Given the description of an element on the screen output the (x, y) to click on. 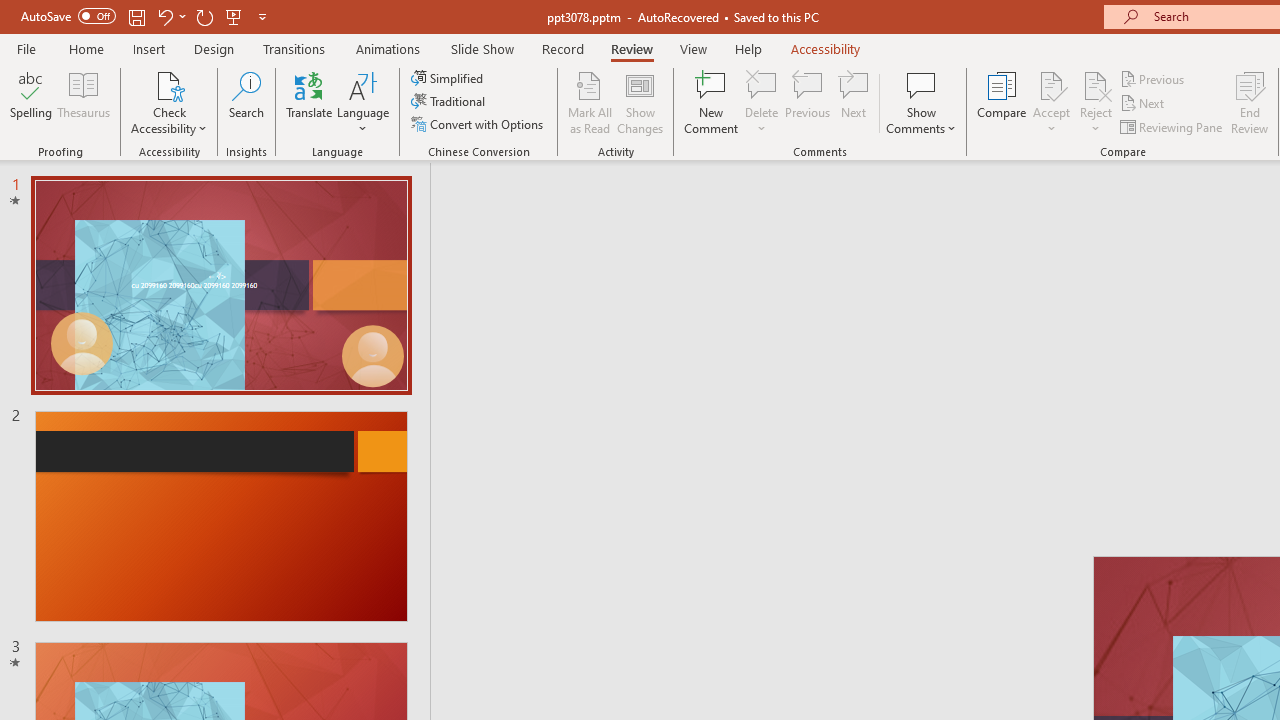
End Review (1249, 102)
Translate (309, 102)
Traditional (449, 101)
Reviewing Pane (1172, 126)
Reject (1096, 102)
Thesaurus... (83, 102)
Convert with Options... (479, 124)
Language (363, 102)
